Given the description of an element on the screen output the (x, y) to click on. 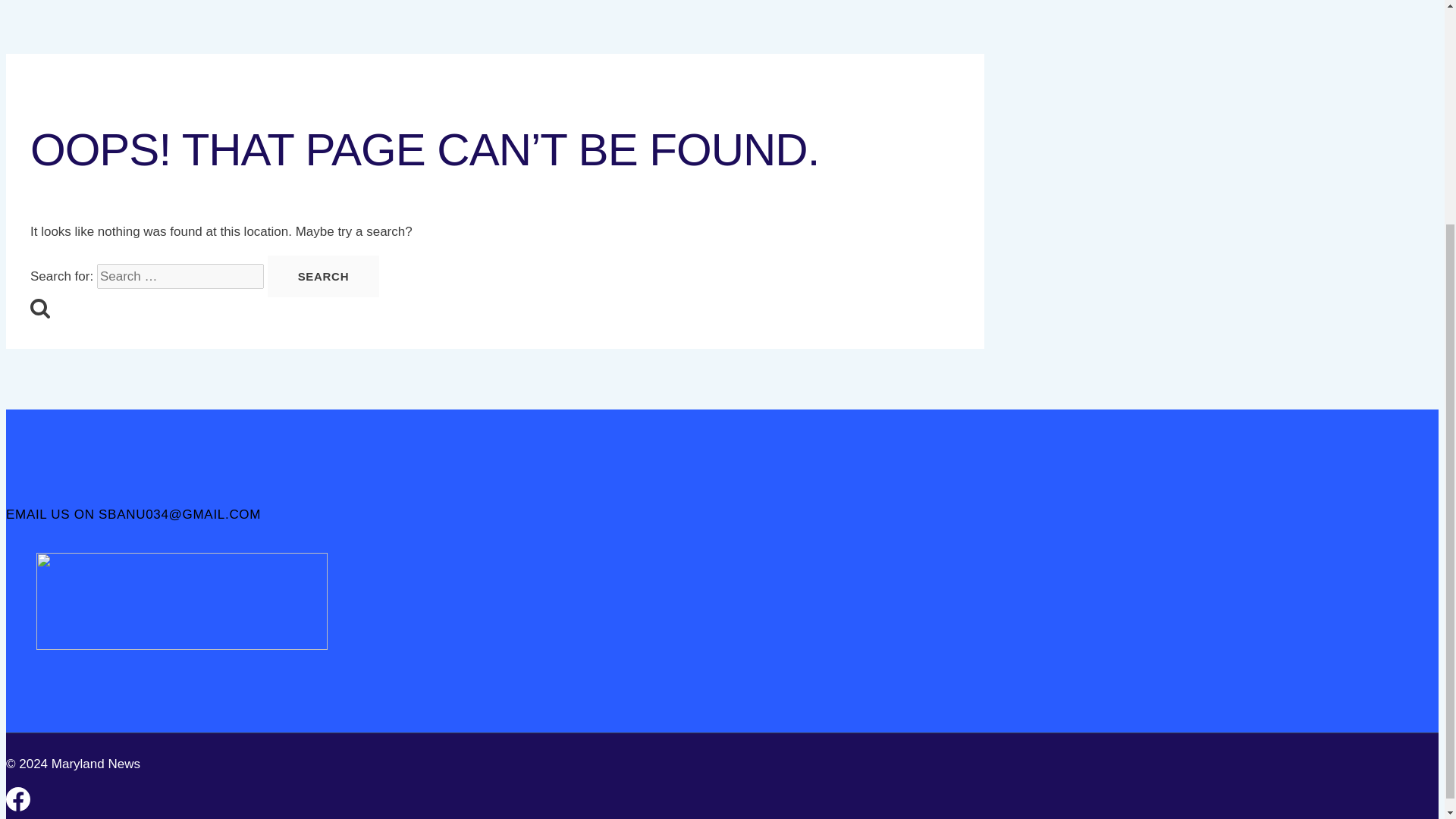
Facebook (17, 807)
Facebook (17, 799)
Search (323, 276)
Search (323, 276)
Search (323, 276)
Search (39, 307)
